Given the description of an element on the screen output the (x, y) to click on. 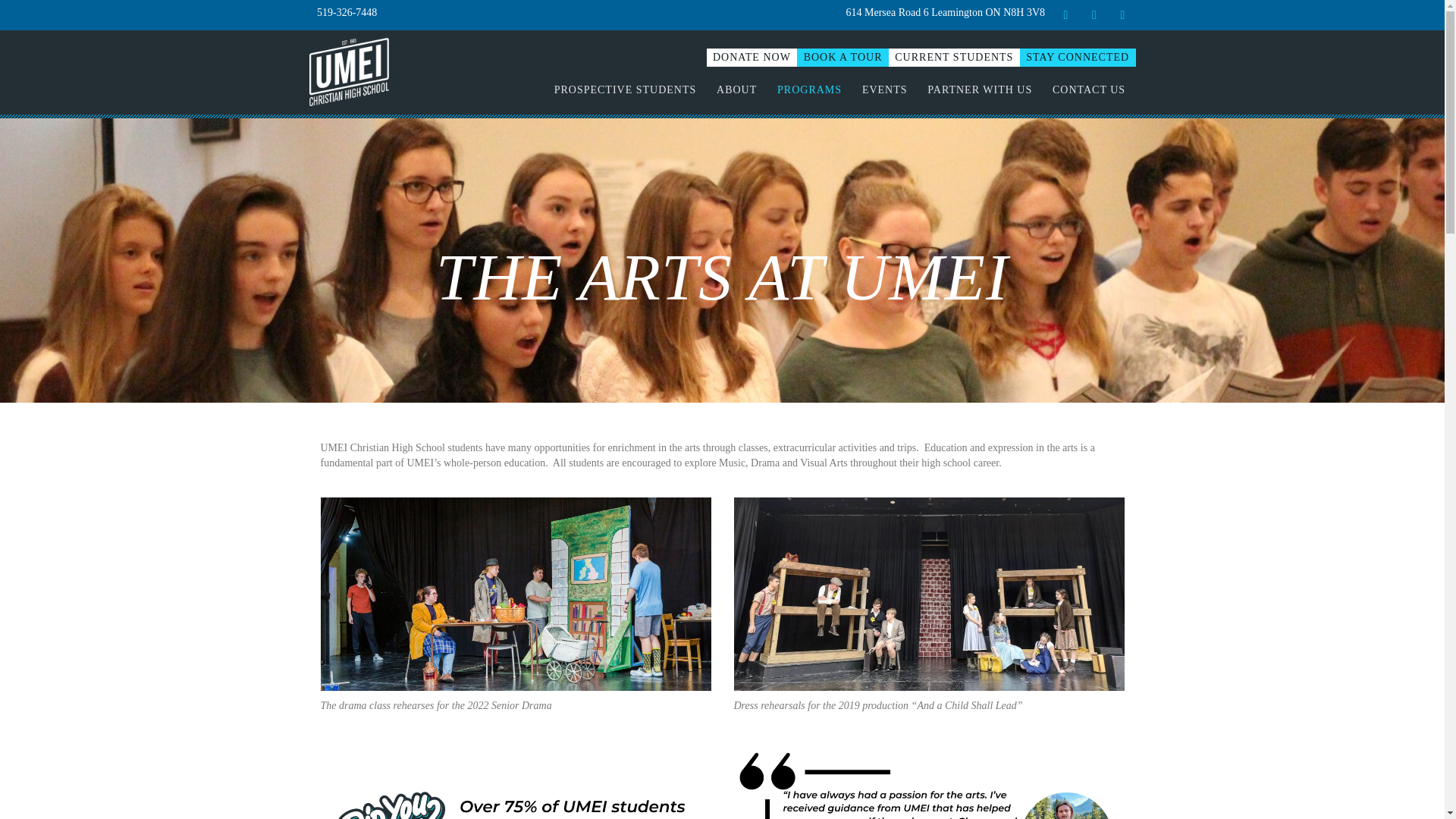
CURRENT STUDENTS (954, 57)
DONATE NOW (751, 57)
PROGRAMS (809, 89)
EVENTS (884, 89)
STAY CONNECTED (1077, 57)
PROSPECTIVE STUDENTS (624, 89)
BOOK A TOUR (842, 57)
ABOUT (736, 89)
